Given the description of an element on the screen output the (x, y) to click on. 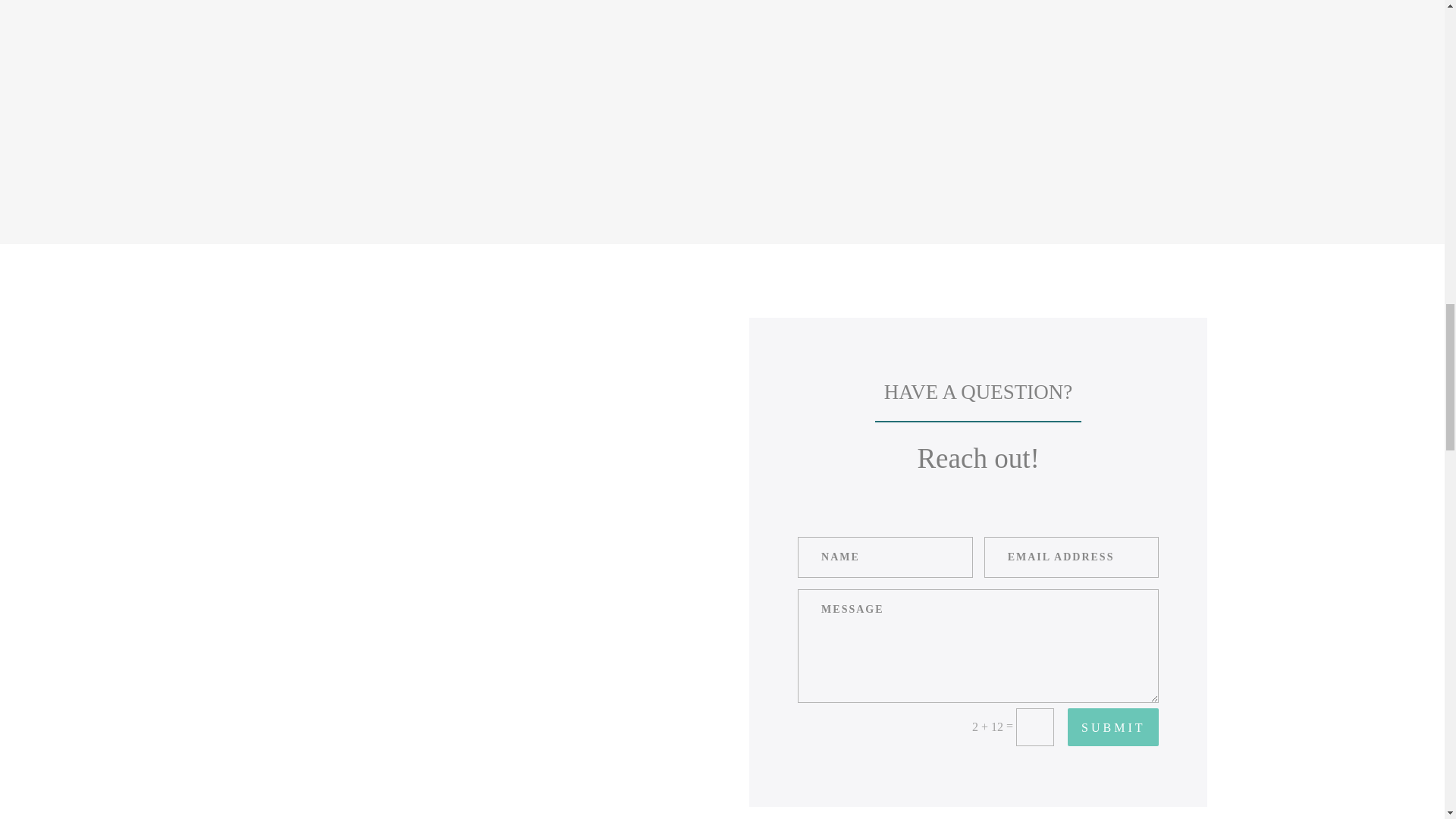
SUBMIT (1112, 727)
